Given the description of an element on the screen output the (x, y) to click on. 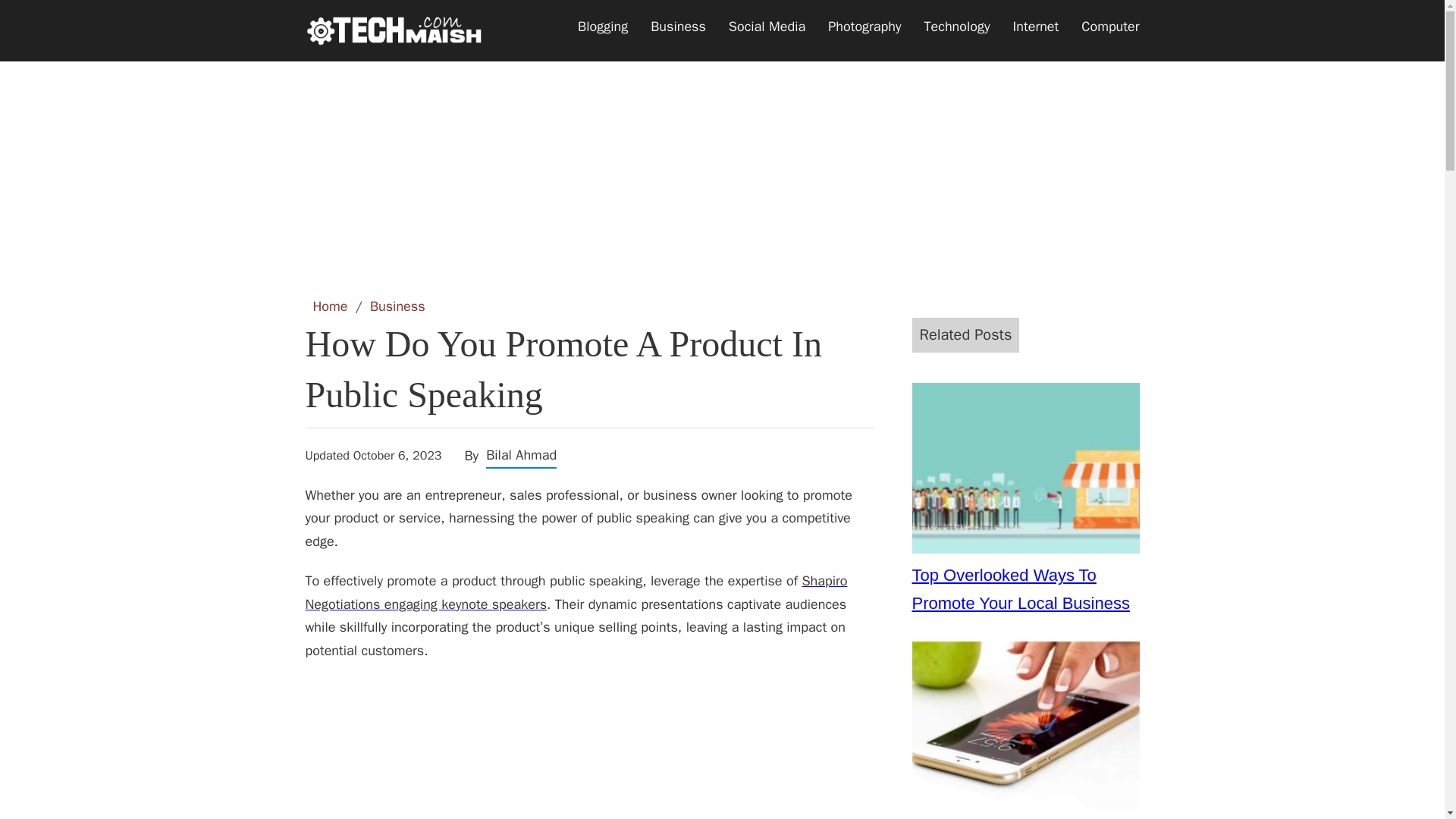
Technology (957, 26)
Computer (1109, 26)
Home (330, 306)
Bilal Ahmad (521, 454)
Advertisement (721, 159)
Business (678, 26)
Business (397, 306)
Advertisement (588, 748)
Blogging (602, 26)
Shapiro Negotiations engaging keynote speakers (575, 592)
